Given the description of an element on the screen output the (x, y) to click on. 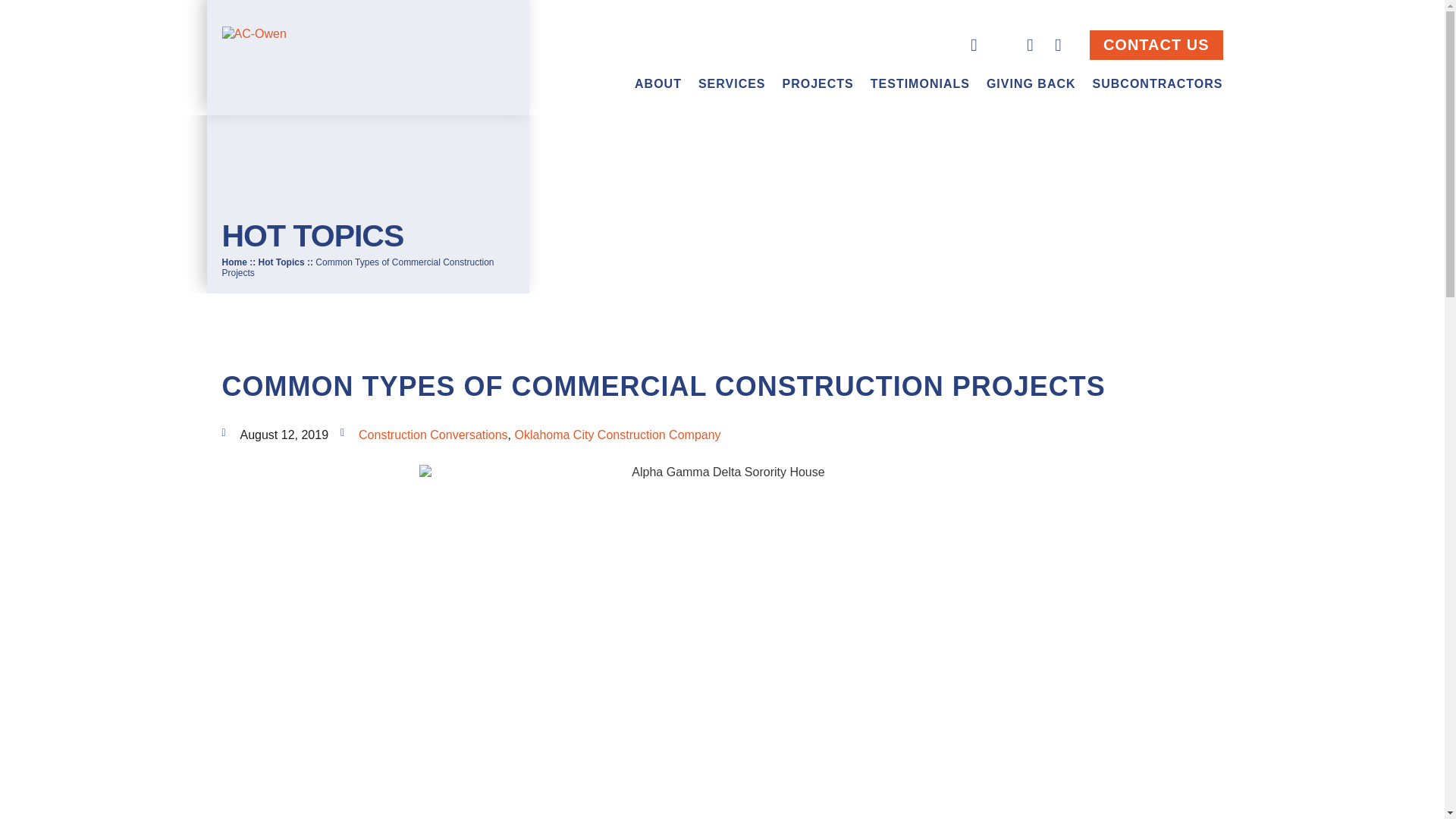
TESTIMONIALS (919, 83)
GIVING BACK (1031, 83)
CONTACT US (1156, 44)
ABOUT (657, 83)
PROJECTS (818, 83)
SERVICES (731, 83)
